Given the description of an element on the screen output the (x, y) to click on. 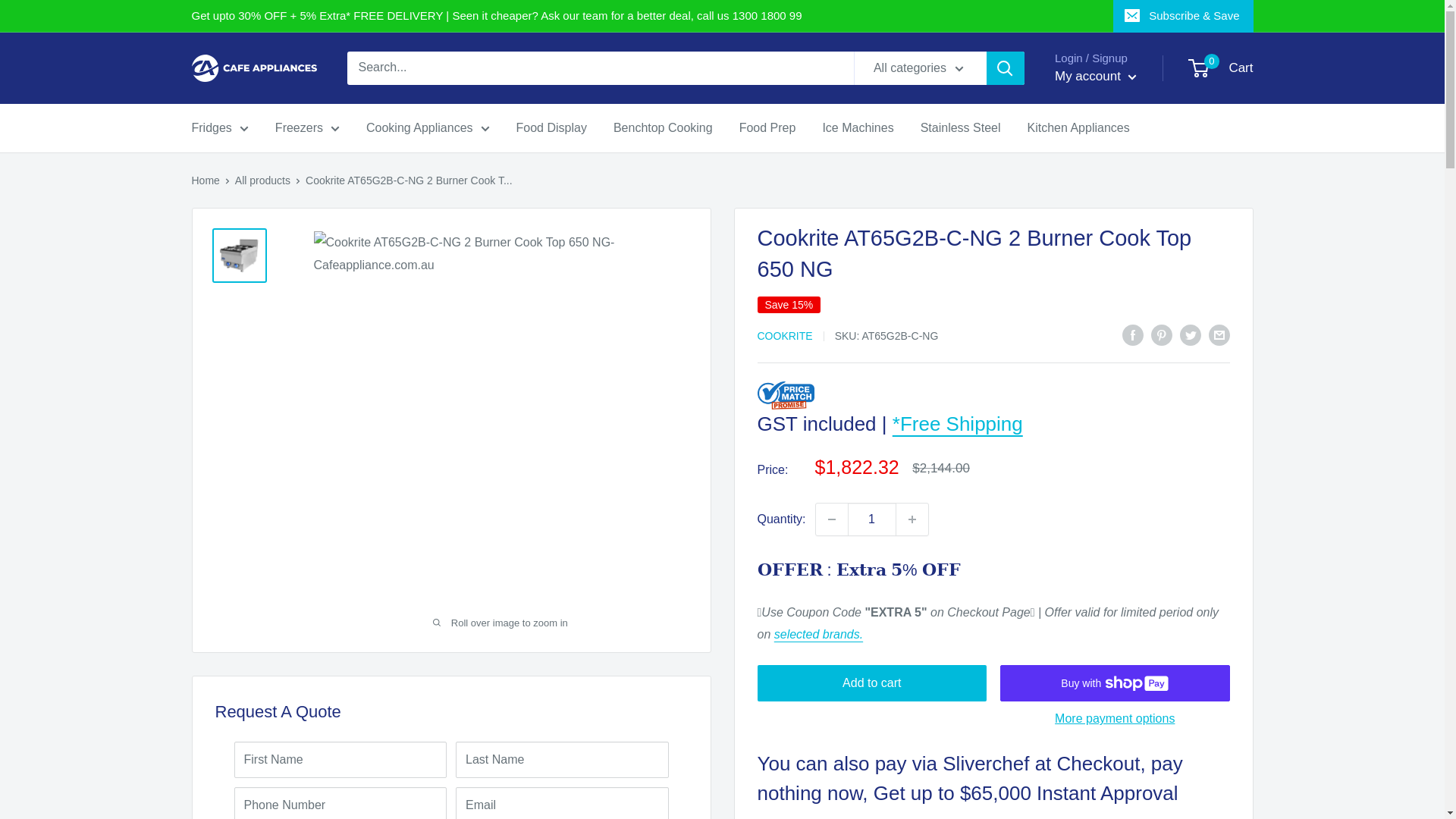
Shipping Policy (957, 423)
1 (871, 519)
Increase quantity by 1 (912, 519)
Decrease quantity by 1 (831, 519)
